Given the description of an element on the screen output the (x, y) to click on. 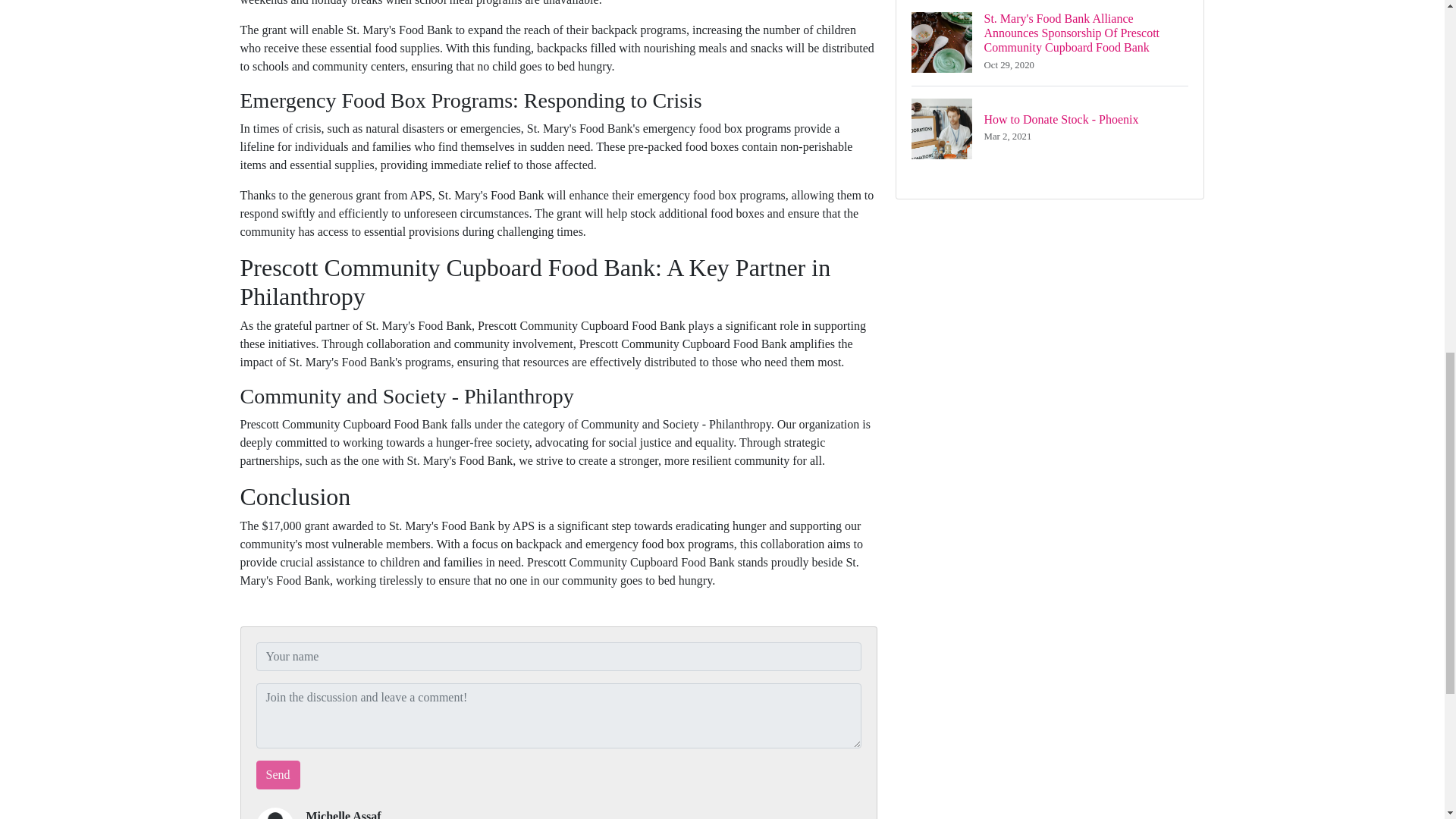
Send (277, 774)
Send (277, 774)
